Given the description of an element on the screen output the (x, y) to click on. 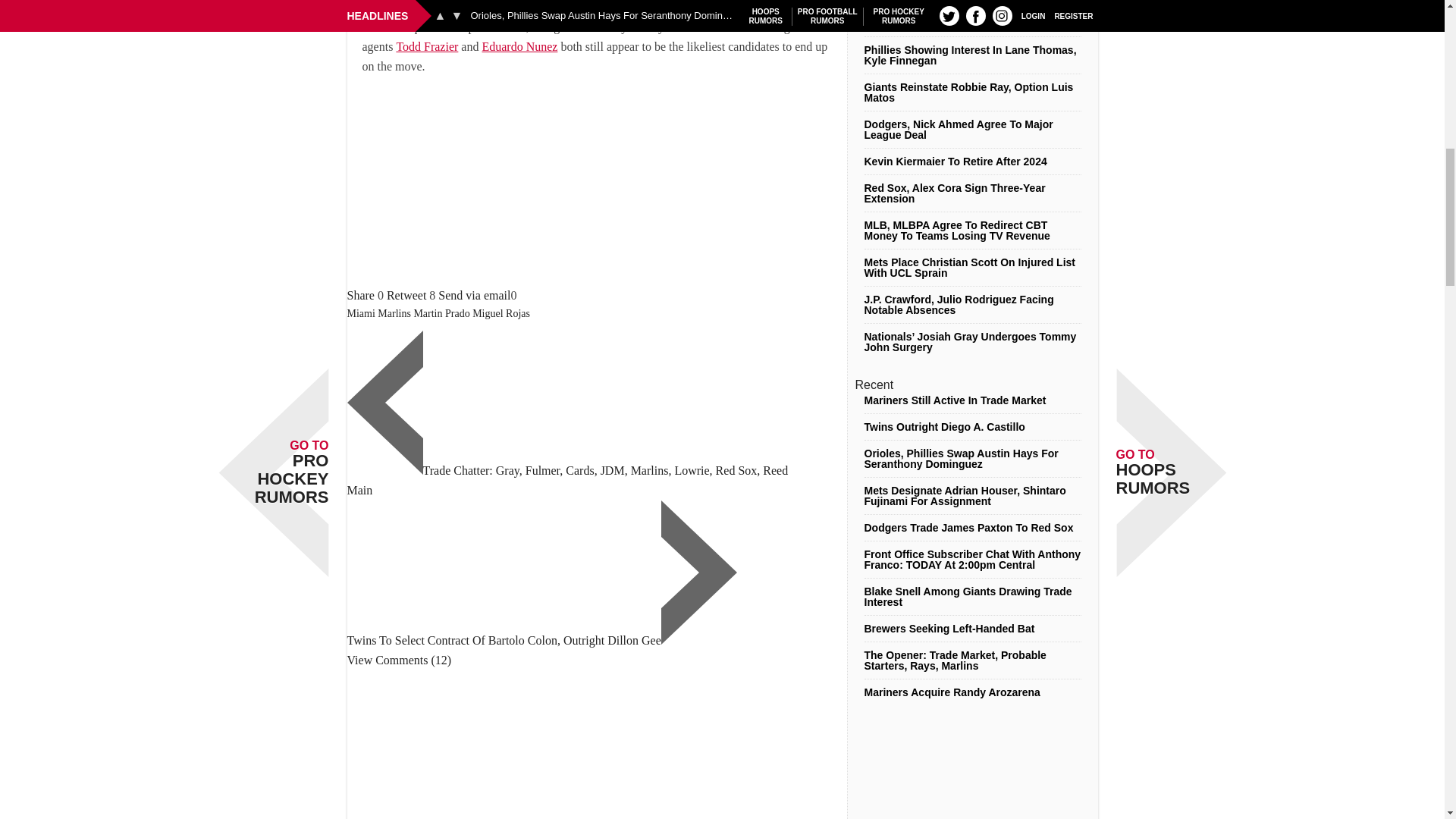
Share 'Marlins Place Martin Prado On 10-Day DL' on Facebook (360, 295)
Send Marlins Place Martin Prado On 10-Day DL with an email (474, 295)
Retweet 'Marlins Place Martin Prado On 10-Day DL' on Twitter (406, 295)
